Given the description of an element on the screen output the (x, y) to click on. 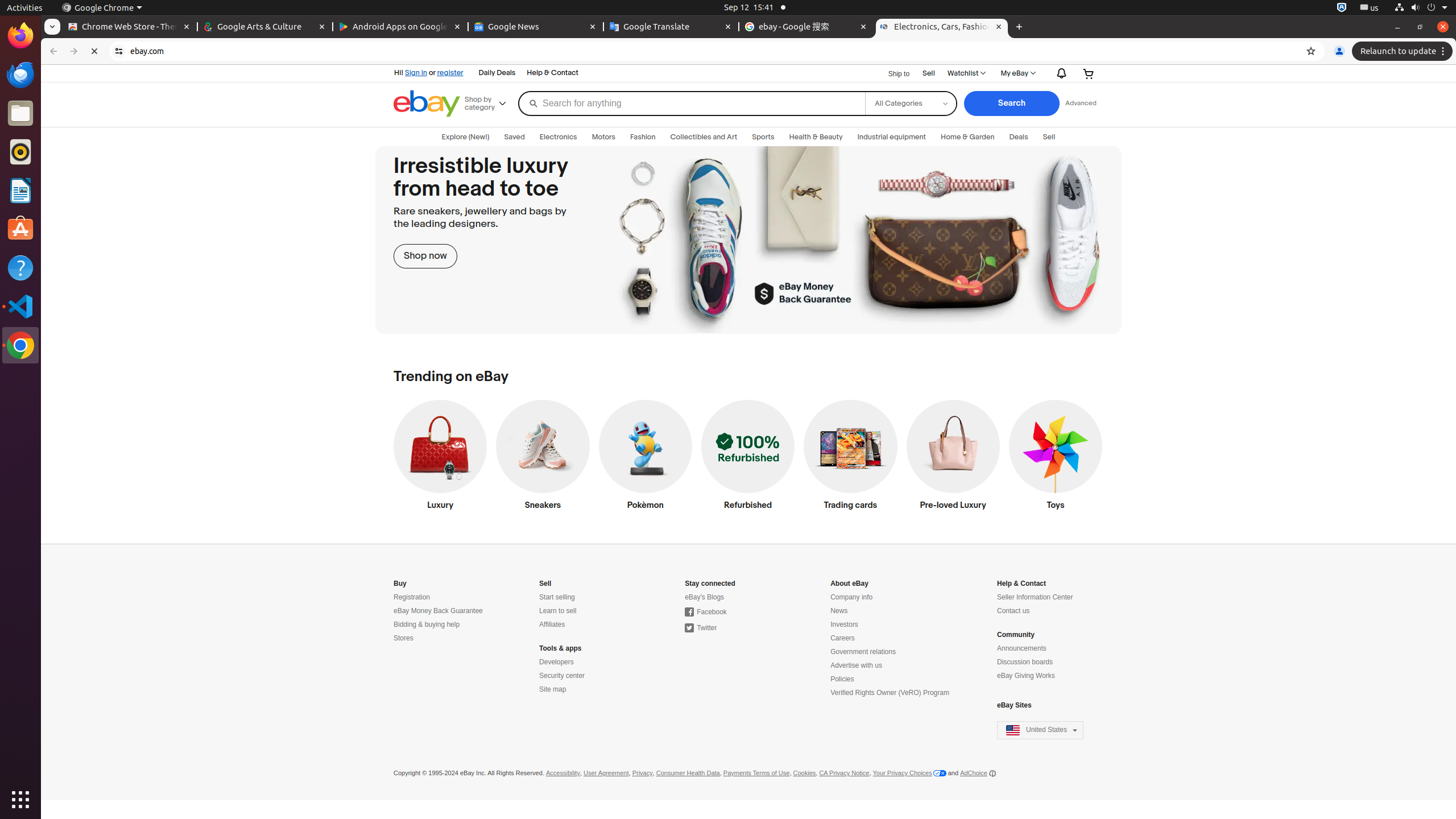
eBay Home Element type: link (426, 103)
Announcements Element type: link (1021, 648)
Saved Element type: link (513, 136)
Facebook Element type: link (705, 612)
Google Chrome Element type: push-button (20, 344)
